Given the description of an element on the screen output the (x, y) to click on. 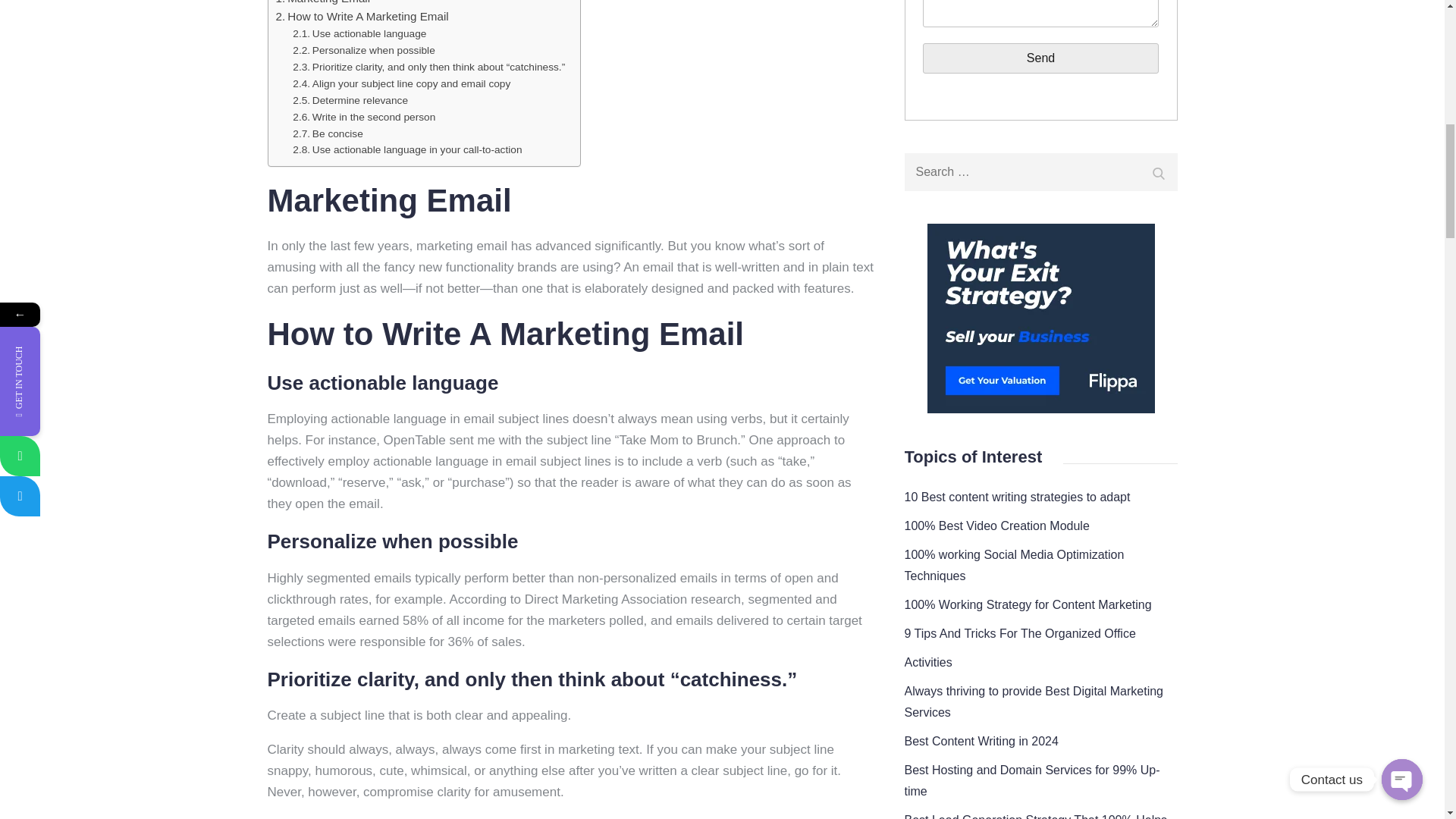
Write in the second person (363, 117)
Use actionable language (359, 33)
Use actionable language in your call-to-action (406, 149)
Be concise (406, 149)
Send (327, 134)
Determine relevance (1040, 58)
How to Write A Marketing Email (349, 100)
Align your subject line copy and email copy (362, 16)
Write in the second person (401, 84)
Marketing Email (363, 117)
Determine relevance (323, 3)
Marketing Email (349, 100)
Be concise (323, 3)
How to Write A Marketing Email (327, 134)
